Given the description of an element on the screen output the (x, y) to click on. 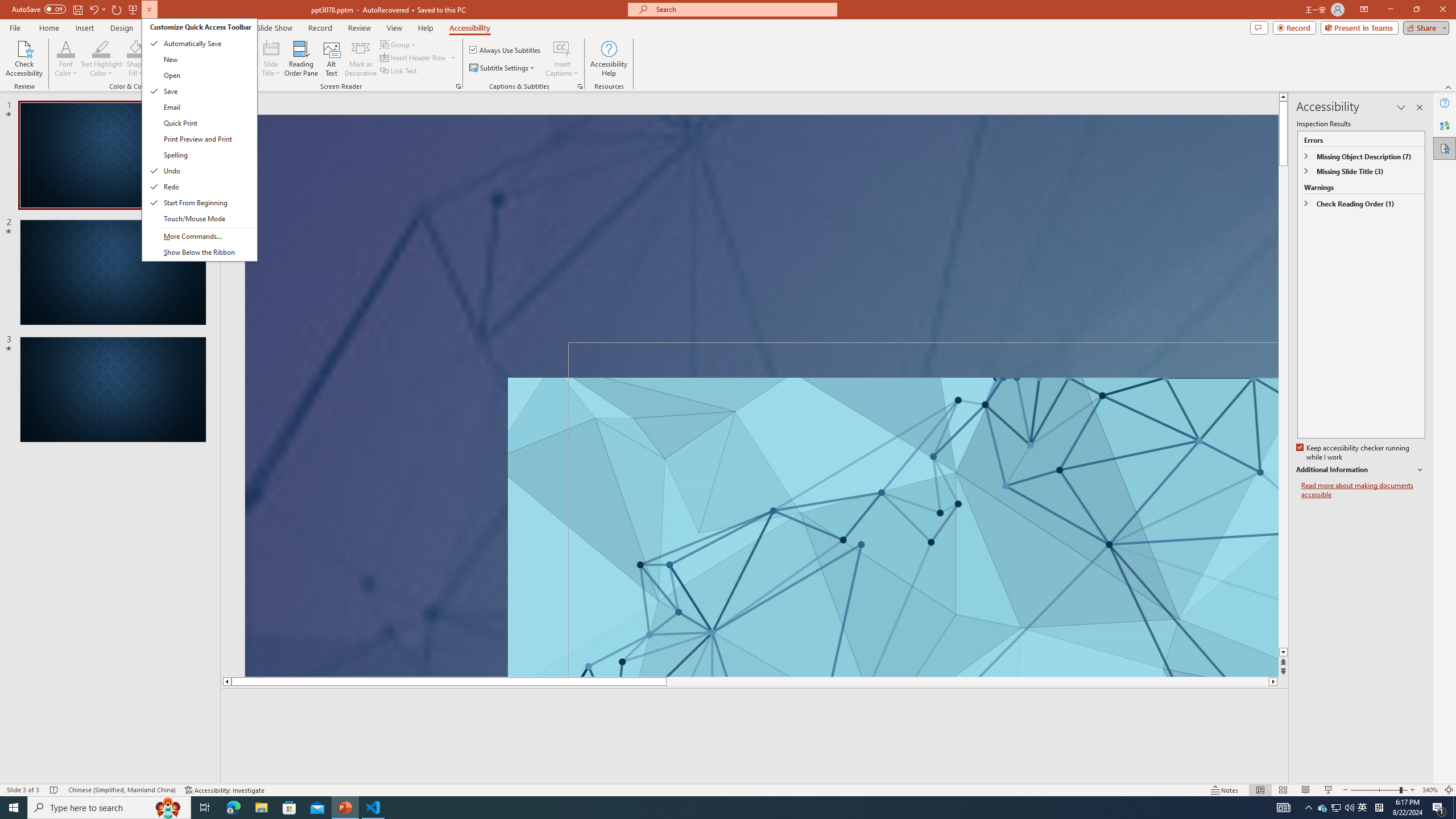
Zoom 340% (1430, 790)
Mark as Decorative (360, 58)
Slide Title (271, 48)
Reading Order Pane (301, 58)
Insert Captions (561, 58)
Insert Header Row (413, 56)
